Given the description of an element on the screen output the (x, y) to click on. 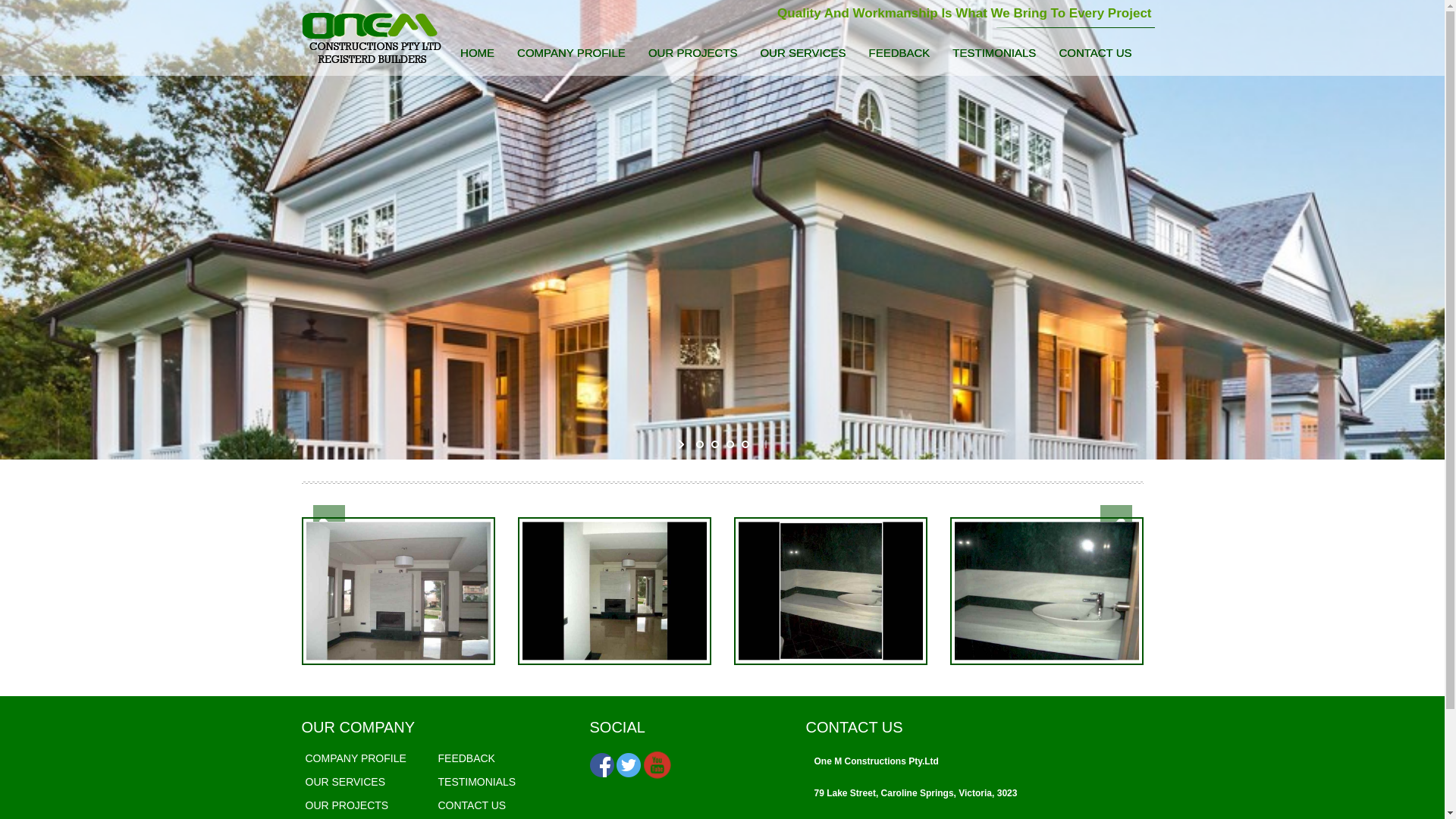
HOME Element type: text (476, 55)
FEEDBACK Element type: text (898, 55)
FEEDBACK Element type: text (466, 758)
TESTIMONIALS Element type: text (477, 781)
CONTACT US Element type: text (472, 805)
COMPANY PROFILE Element type: text (354, 758)
Previous Element type: text (328, 532)
OUR PROJECTS Element type: text (693, 55)
Next Element type: text (1115, 532)
TESTIMONIALS Element type: text (994, 55)
OUR PROJECTS Element type: text (346, 805)
OUR SERVICES Element type: text (344, 781)
OUR SERVICES Element type: text (802, 55)
CONTACT US Element type: text (1094, 55)
COMPANY PROFILE Element type: text (571, 55)
